Given the description of an element on the screen output the (x, y) to click on. 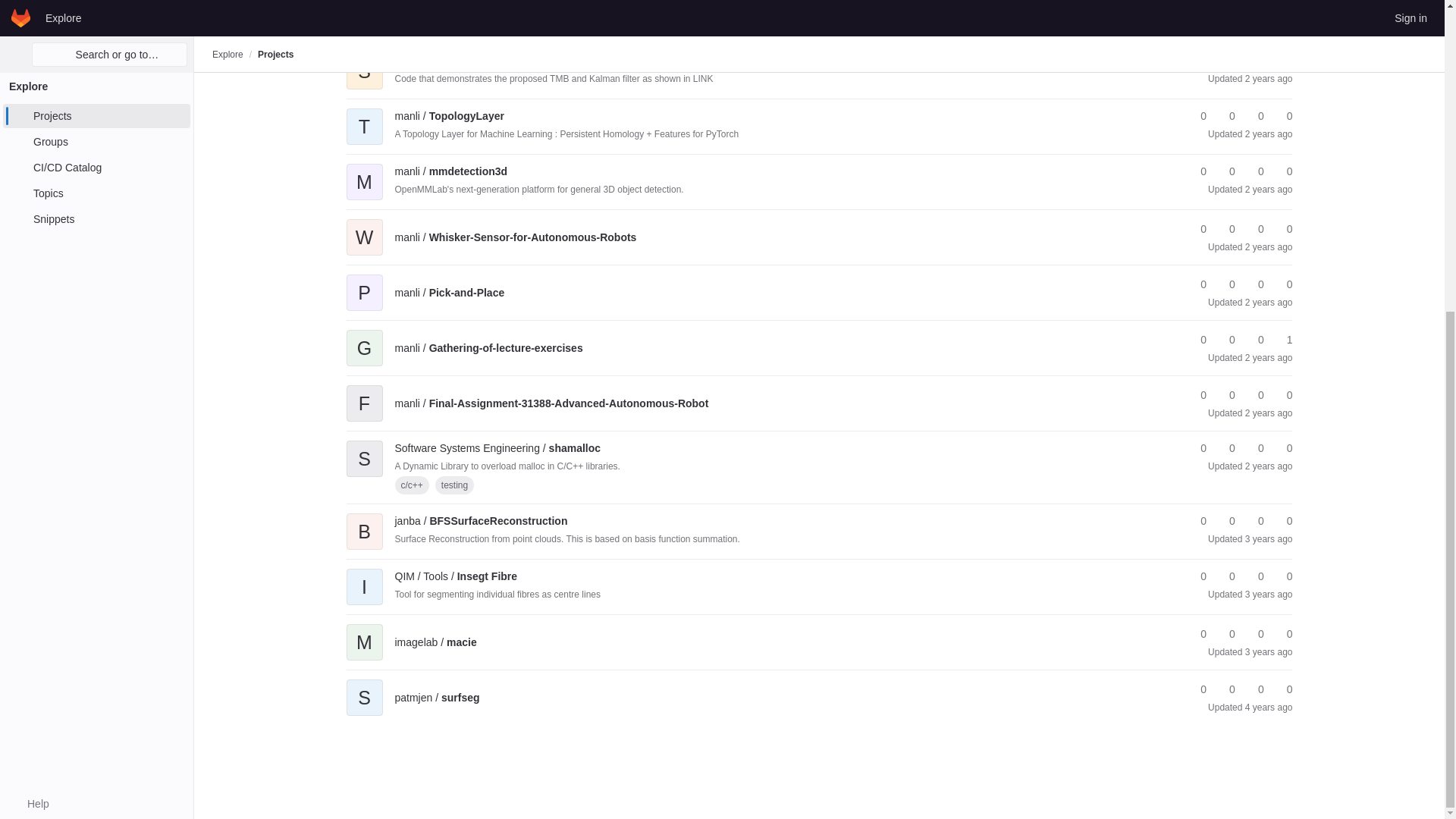
Help (30, 307)
